Given the description of an element on the screen output the (x, y) to click on. 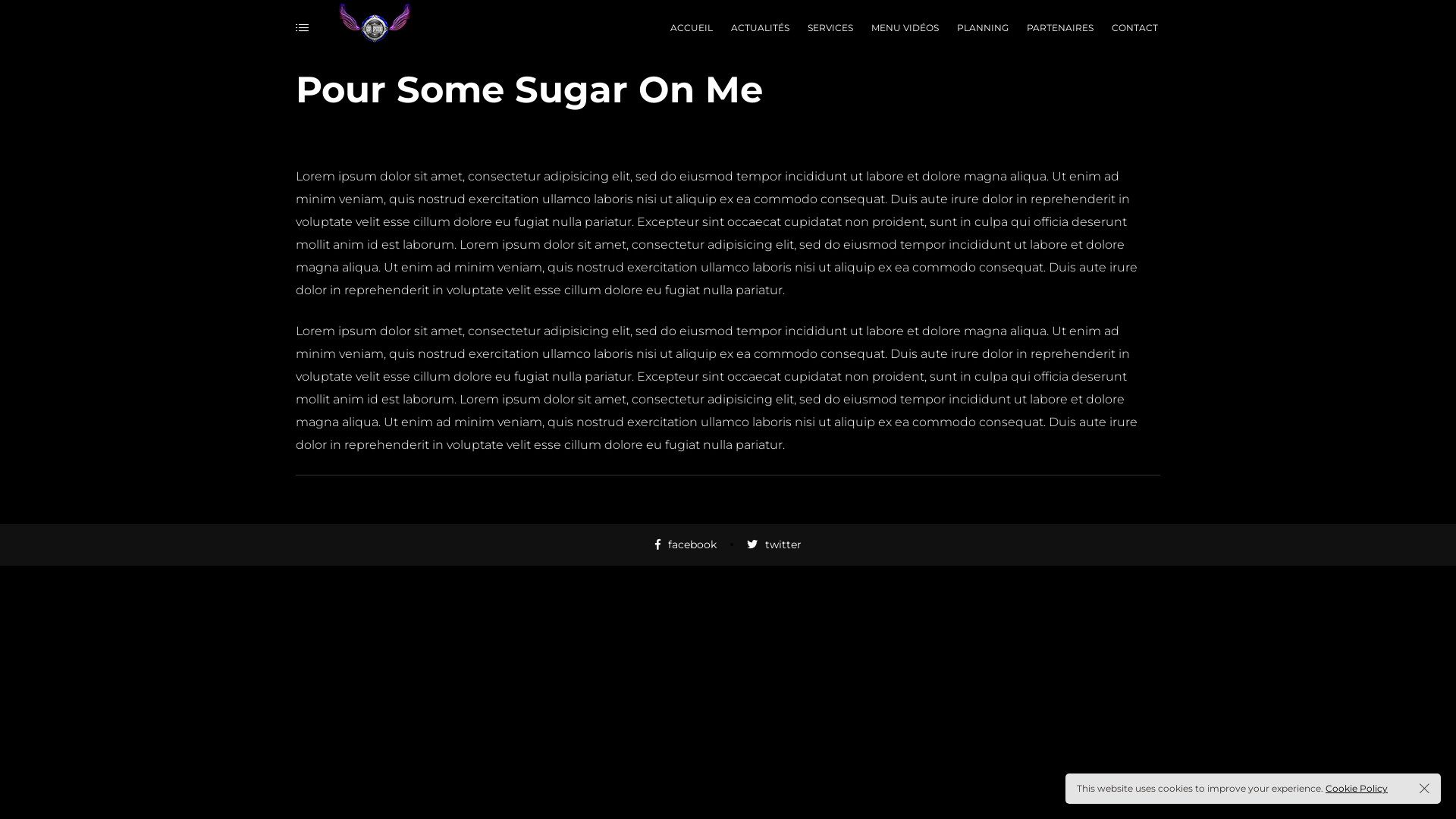
Cookie Policy Element type: text (1356, 787)
PLANNING Element type: text (979, 28)
SERVICES Element type: text (827, 28)
facebook Element type: text (685, 544)
CONTACT Element type: text (1131, 28)
PARTENAIRES Element type: text (1056, 28)
ACCUEIL Element type: text (688, 28)
twitter Element type: text (773, 544)
